Given the description of an element on the screen output the (x, y) to click on. 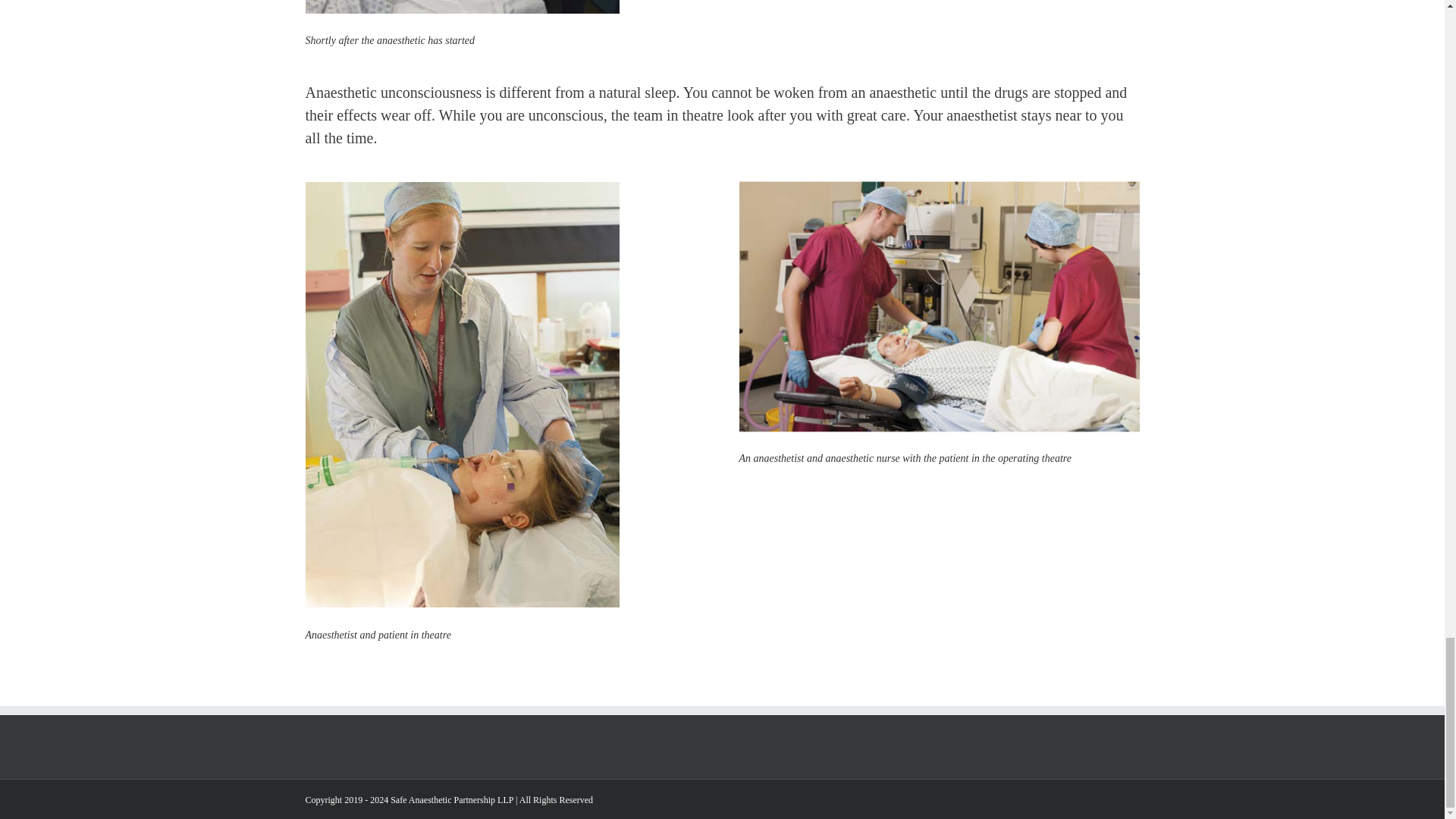
6 (461, 7)
9 (938, 306)
